Given the description of an element on the screen output the (x, y) to click on. 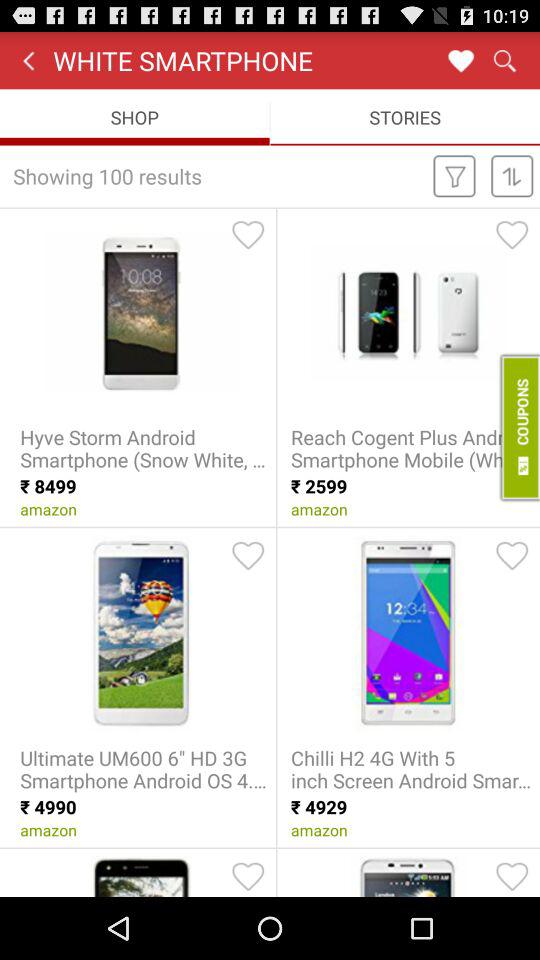
turn on the shop item (134, 116)
